Given the description of an element on the screen output the (x, y) to click on. 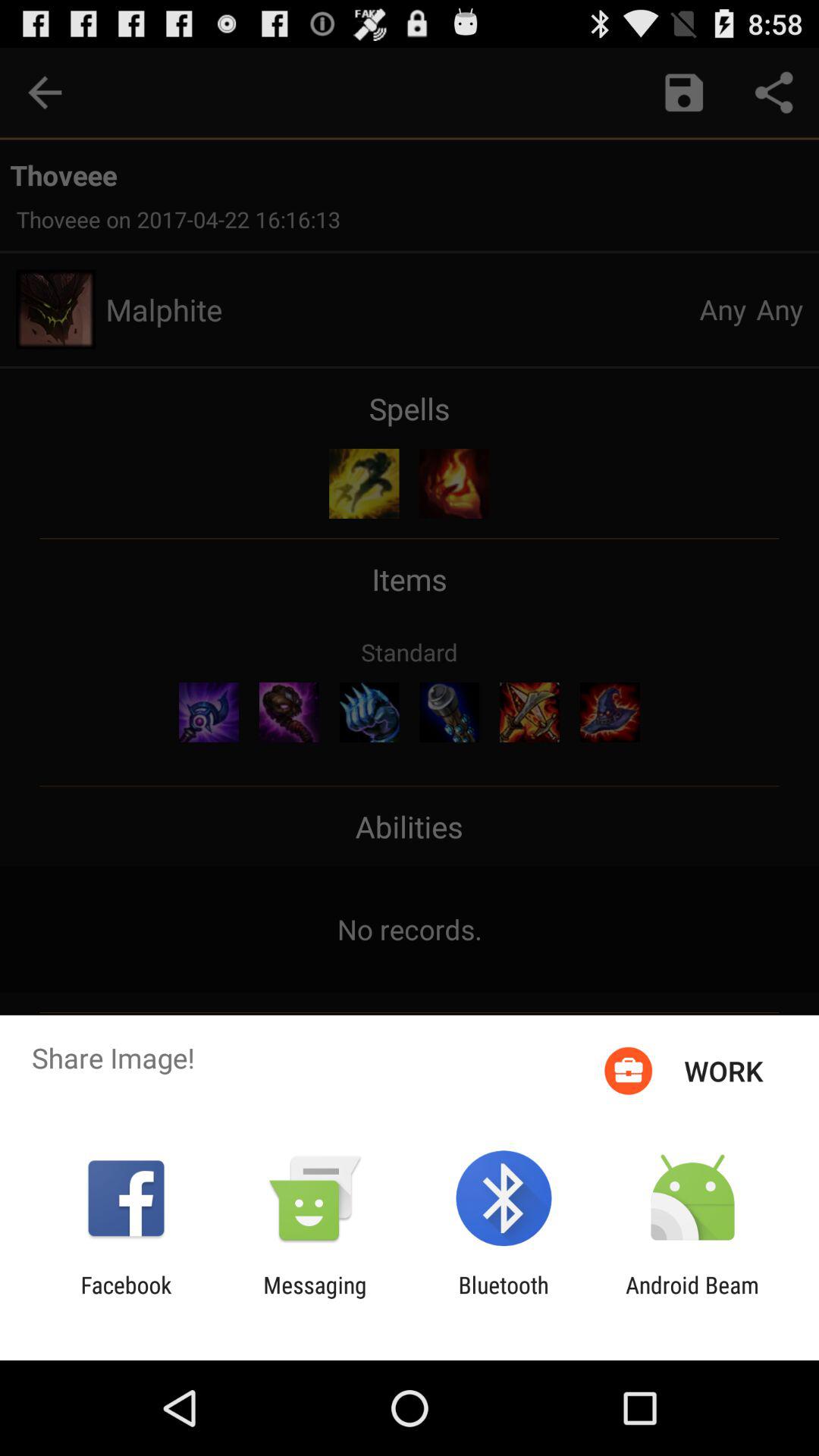
jump to facebook icon (125, 1298)
